Given the description of an element on the screen output the (x, y) to click on. 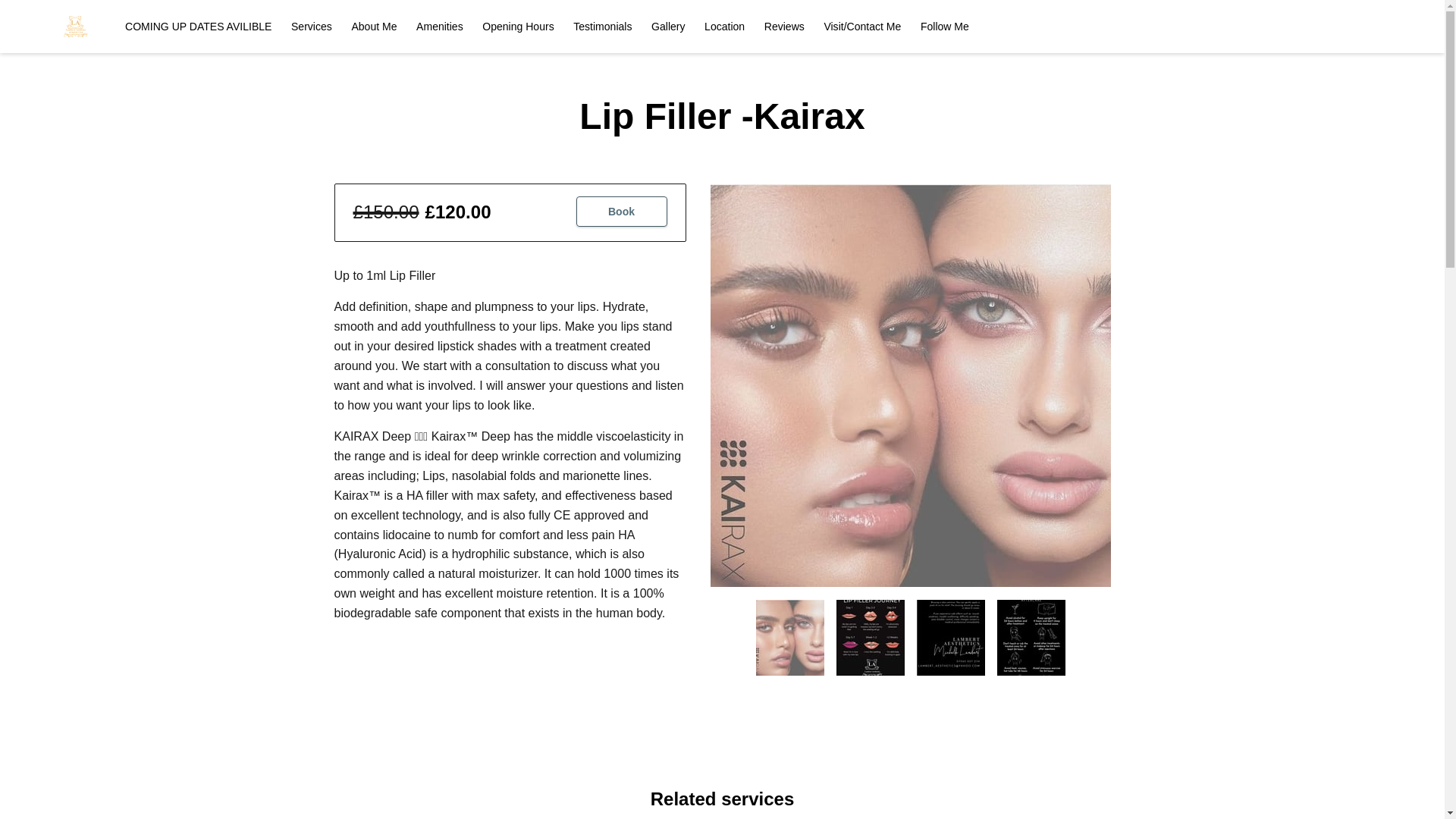
Reviews (784, 26)
Location (724, 26)
Opening Hours (517, 26)
About Me (373, 26)
COMING UP DATES AVILIBLE (197, 26)
Testimonials (602, 26)
Book (621, 211)
Services (311, 26)
Gallery (667, 26)
Follow Me (944, 26)
